Given the description of an element on the screen output the (x, y) to click on. 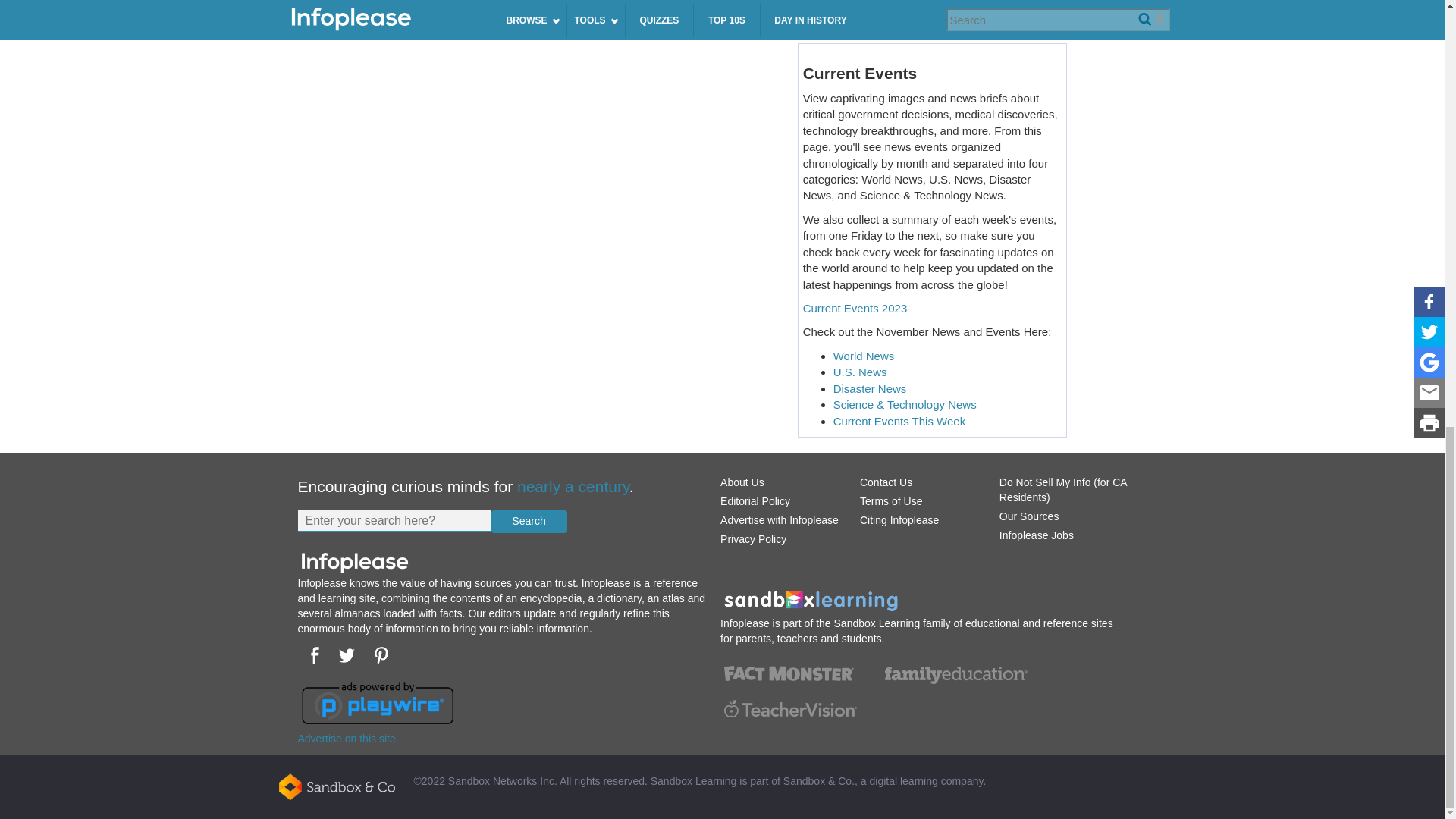
Search (529, 521)
